Given the description of an element on the screen output the (x, y) to click on. 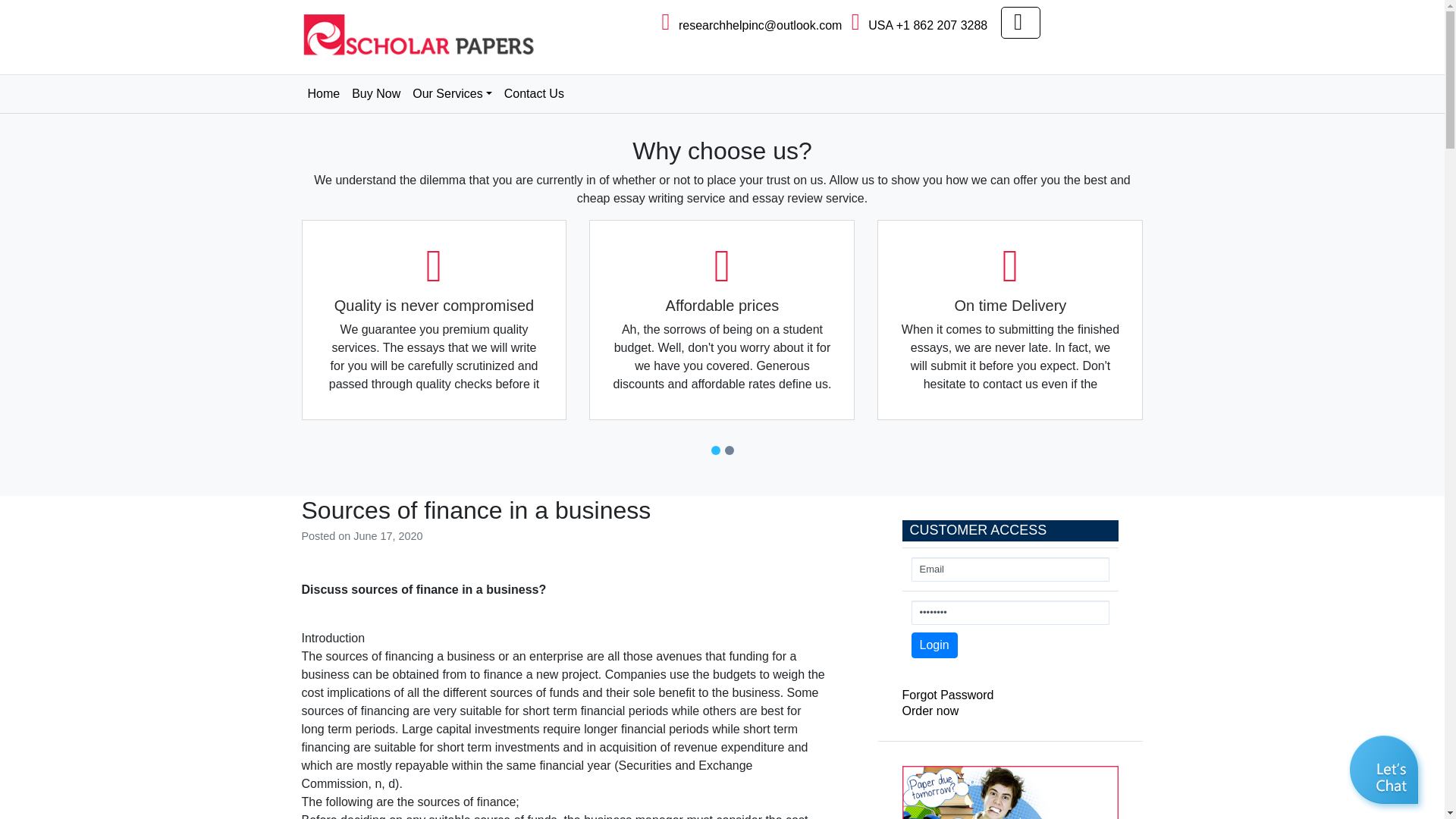
Contact Us (533, 93)
Login (934, 645)
Our Services (451, 93)
Quality is never compromised (433, 320)
On time Delivery (1010, 320)
Buy Now (376, 93)
Login (934, 645)
Scholar Papers (363, 74)
Email (1010, 569)
Order now (930, 710)
Forgot Password (948, 694)
Affordable prices (721, 320)
June 17, 2020 (387, 535)
Password (1010, 612)
Home (323, 93)
